Given the description of an element on the screen output the (x, y) to click on. 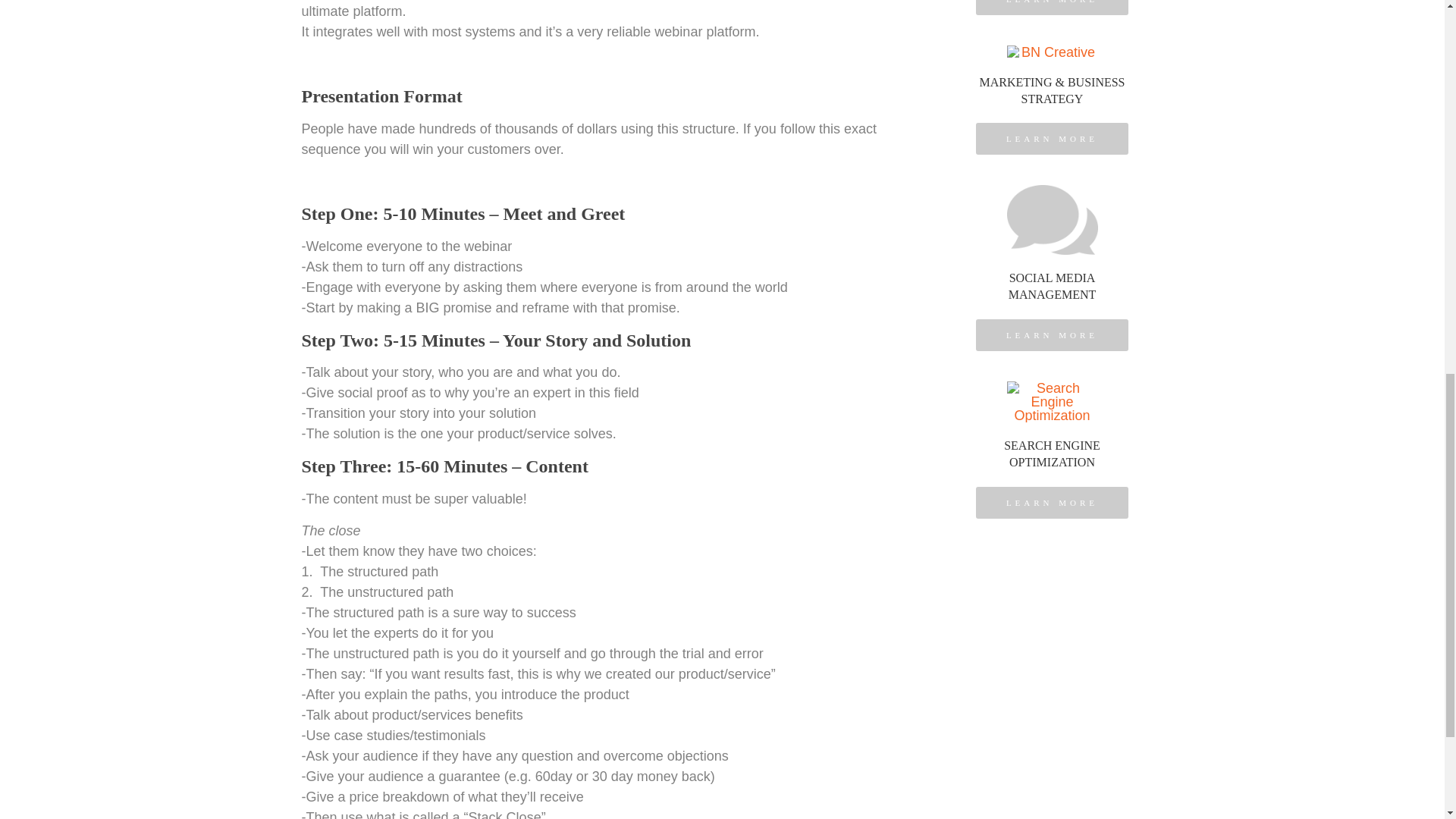
LEARN MORE (1051, 286)
LEARN MORE (1051, 138)
LEARN MORE (1051, 502)
LEARN MORE (1051, 335)
